Given the description of an element on the screen output the (x, y) to click on. 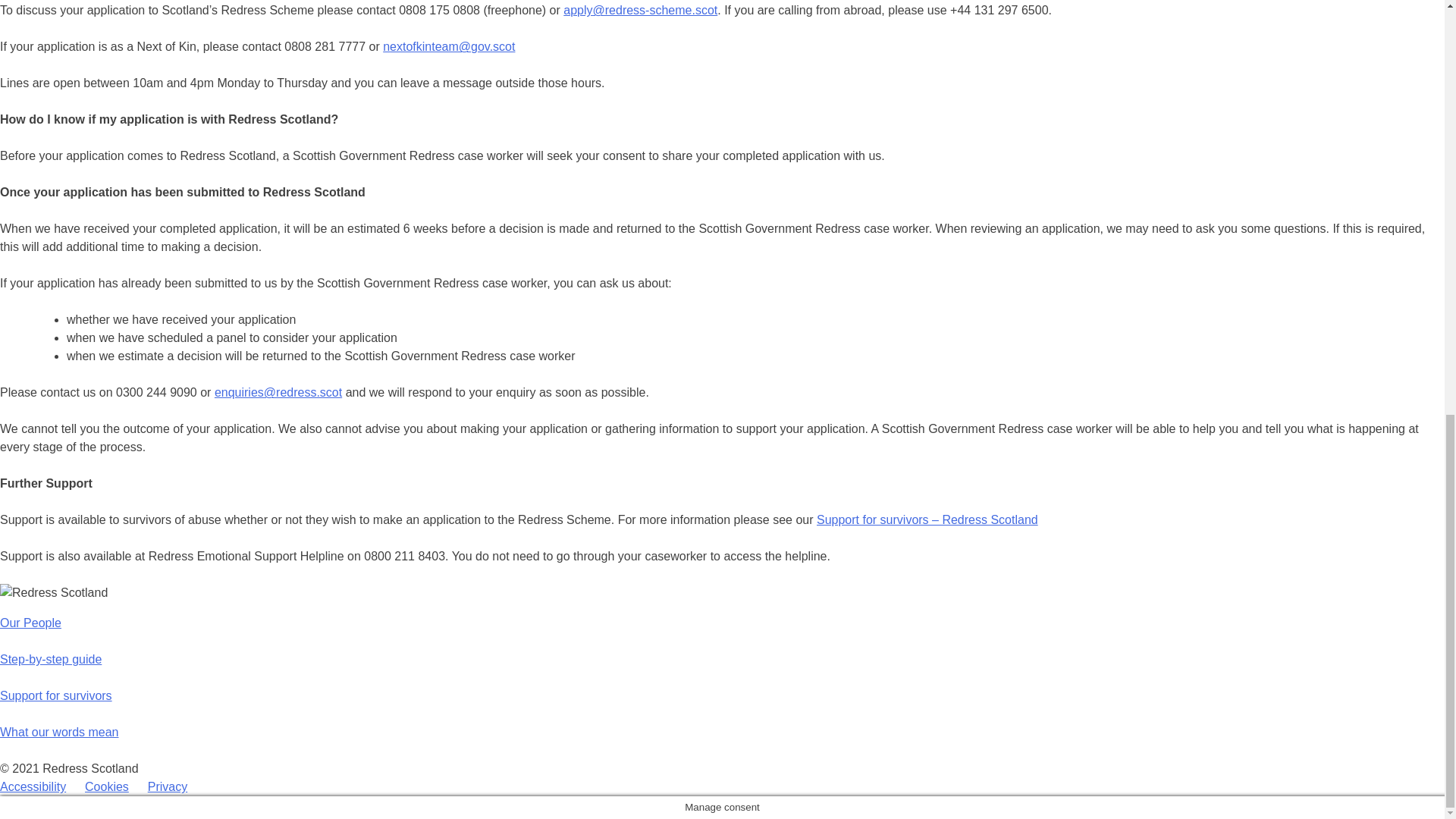
Step-by-step guide (50, 658)
Our People (30, 622)
Accessibility (32, 786)
What our words mean (59, 731)
Privacy (167, 786)
Support for survivors (56, 695)
Cookies (106, 786)
